Given the description of an element on the screen output the (x, y) to click on. 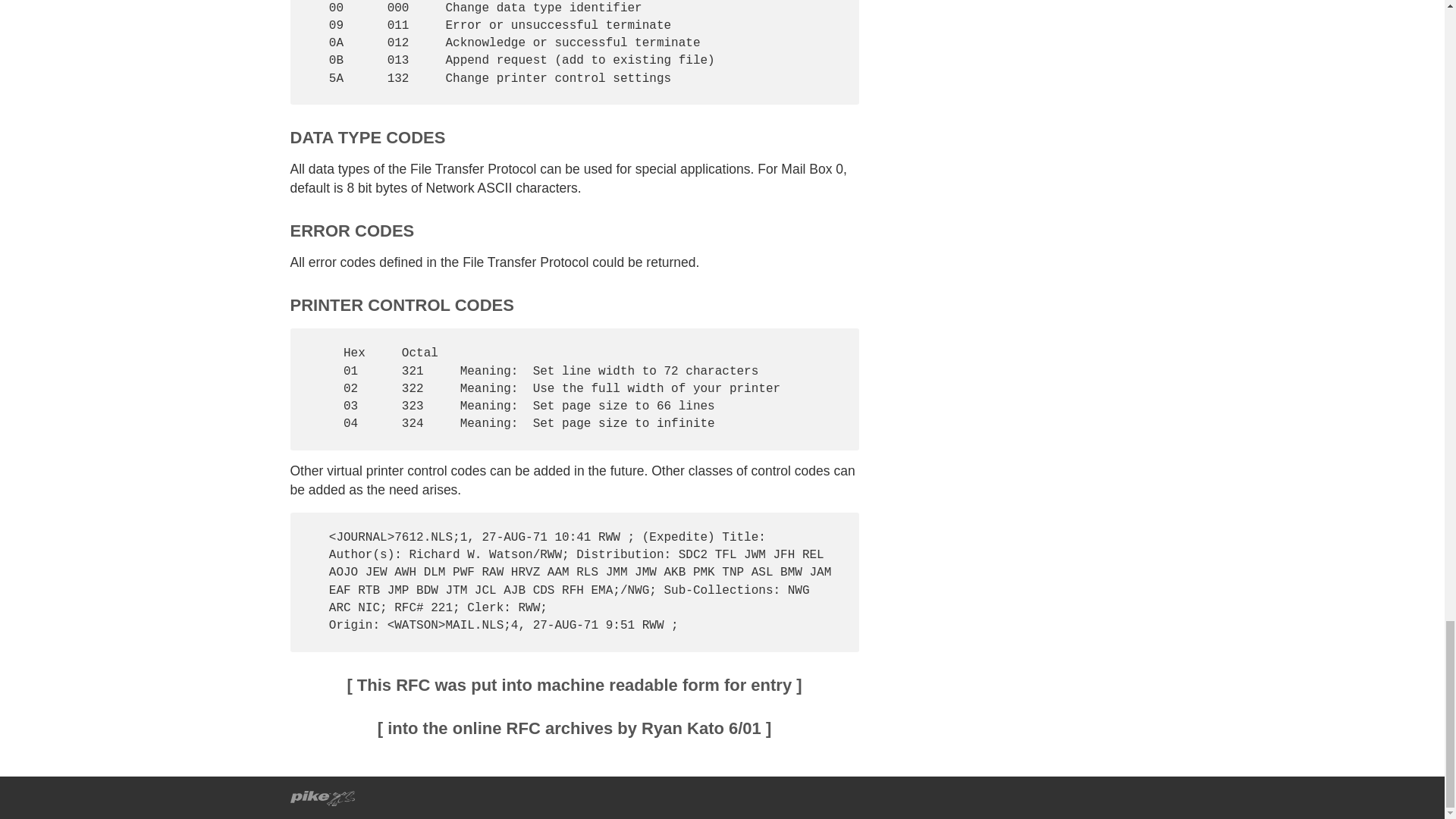
To the start page (321, 796)
